Given the description of an element on the screen output the (x, y) to click on. 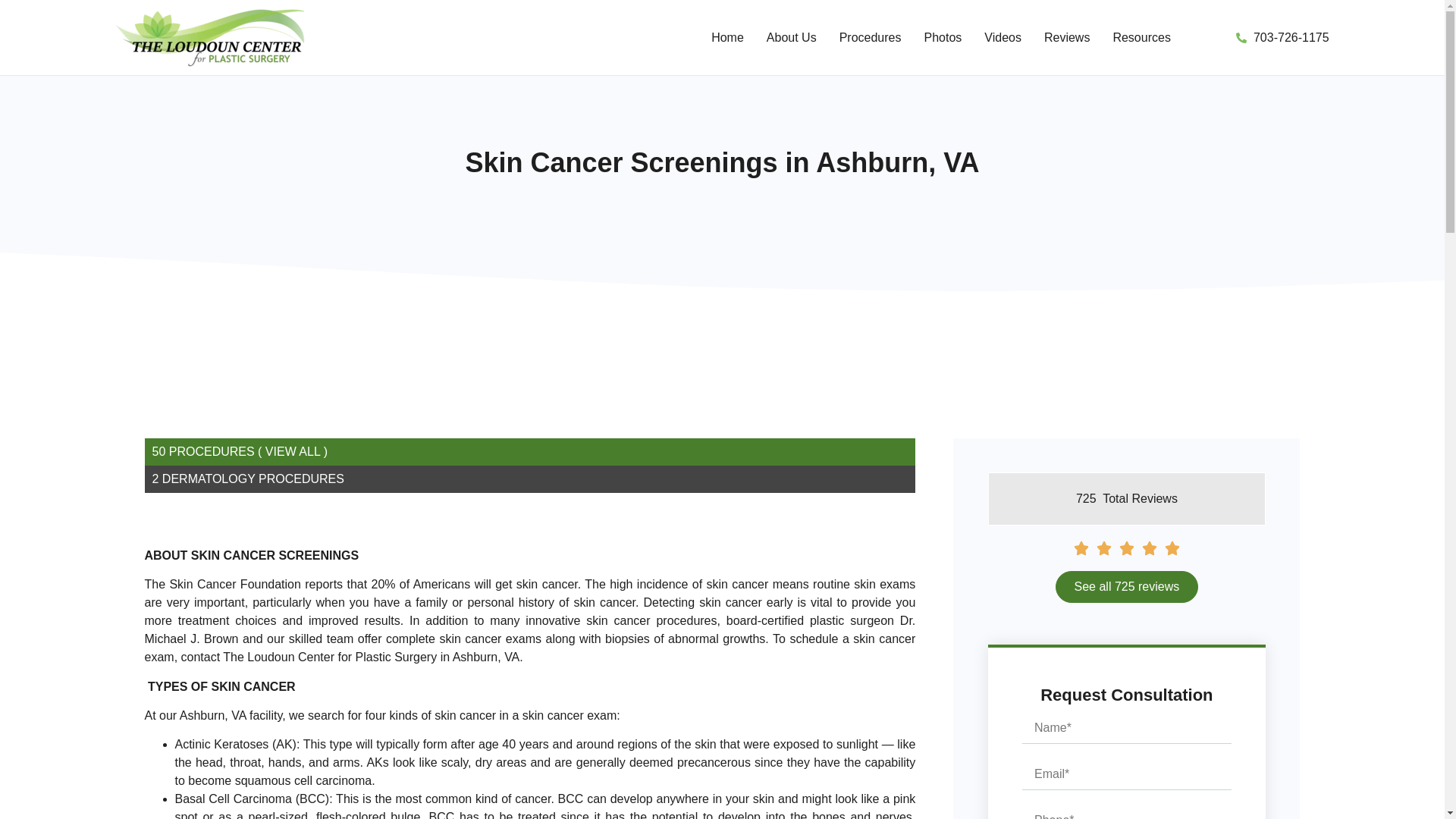
About Us (791, 37)
Procedures (870, 37)
